Given the description of an element on the screen output the (x, y) to click on. 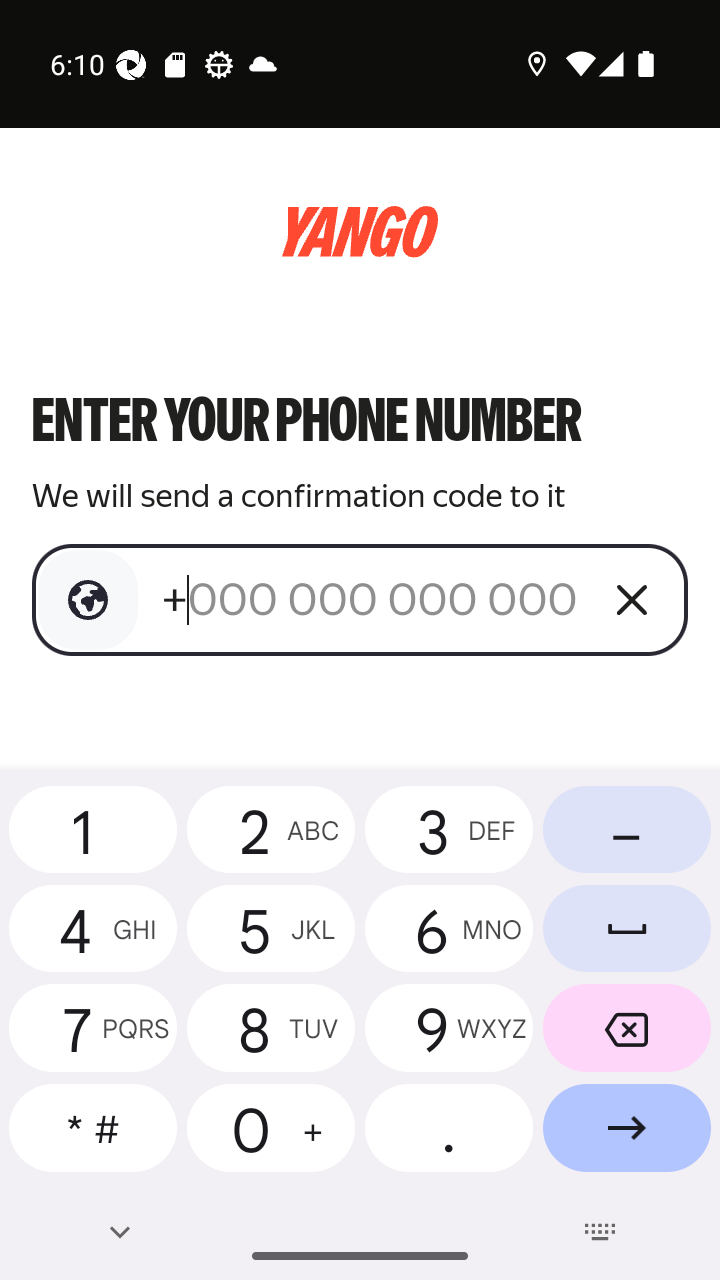
logo (359, 231)
  (88, 600)
+ (372, 599)
